Given the description of an element on the screen output the (x, y) to click on. 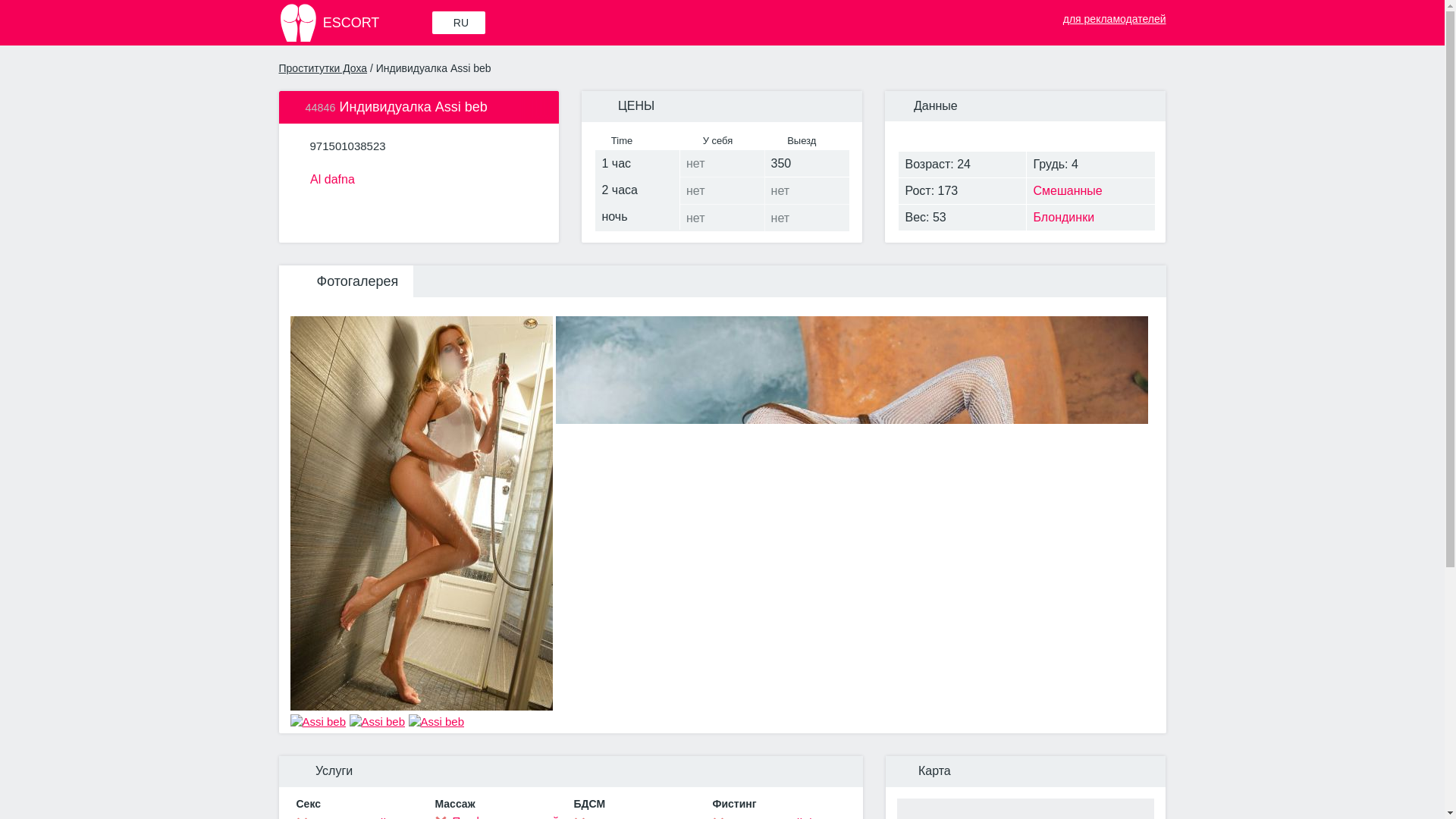
Al dafna (418, 177)
ESCORT (354, 22)
971501038523 (347, 145)
